Given the description of an element on the screen output the (x, y) to click on. 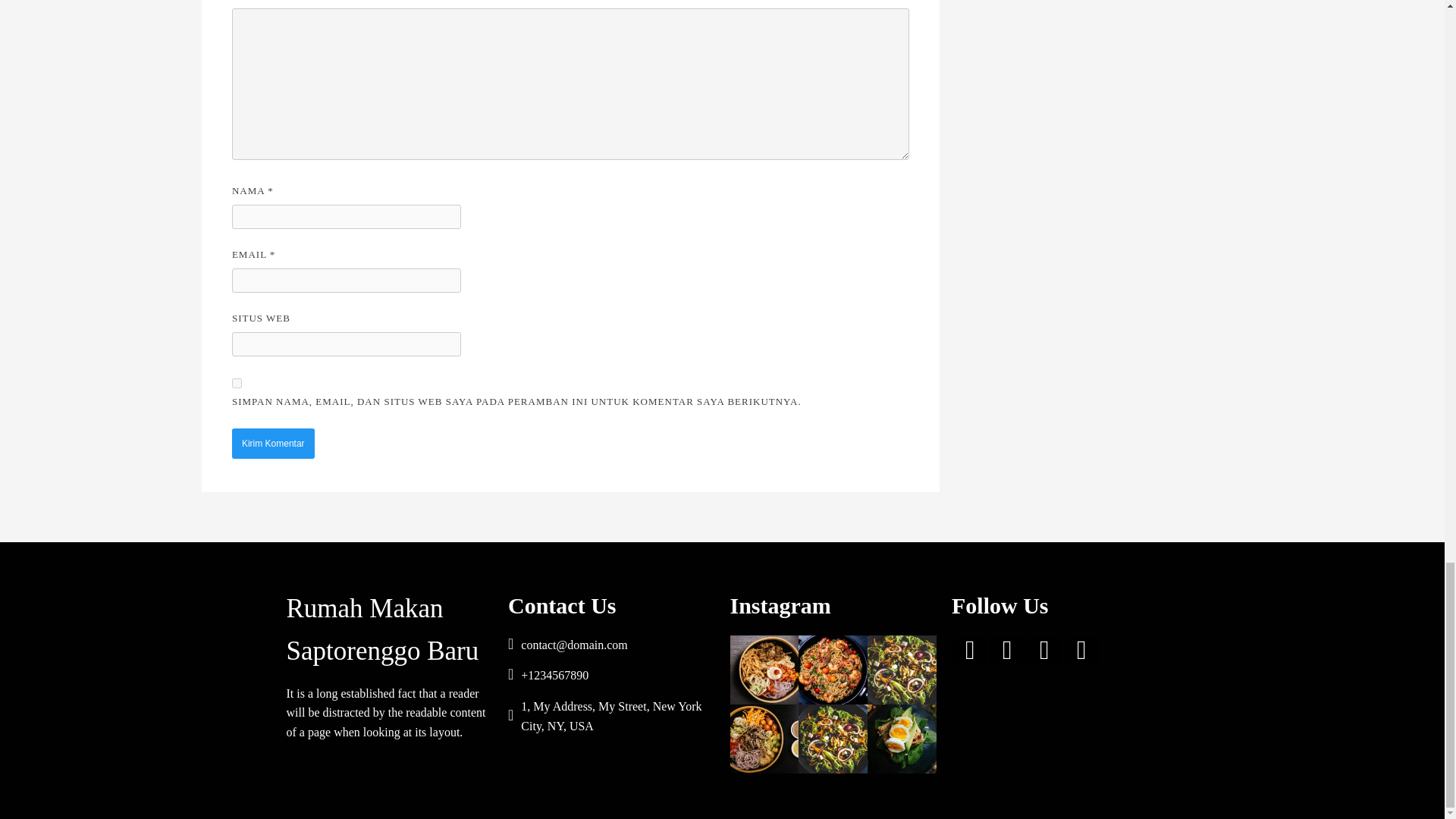
Kirim Komentar (272, 443)
home3-1 (901, 738)
yes (236, 383)
home3-6 (832, 669)
home3-2 (763, 738)
fab fa-google-plus (1044, 650)
Rumah Makan Saptorenggo Baru (389, 630)
home2-3 (832, 738)
fab fa-facebook-square (970, 650)
home3-4 (901, 669)
